Given the description of an element on the screen output the (x, y) to click on. 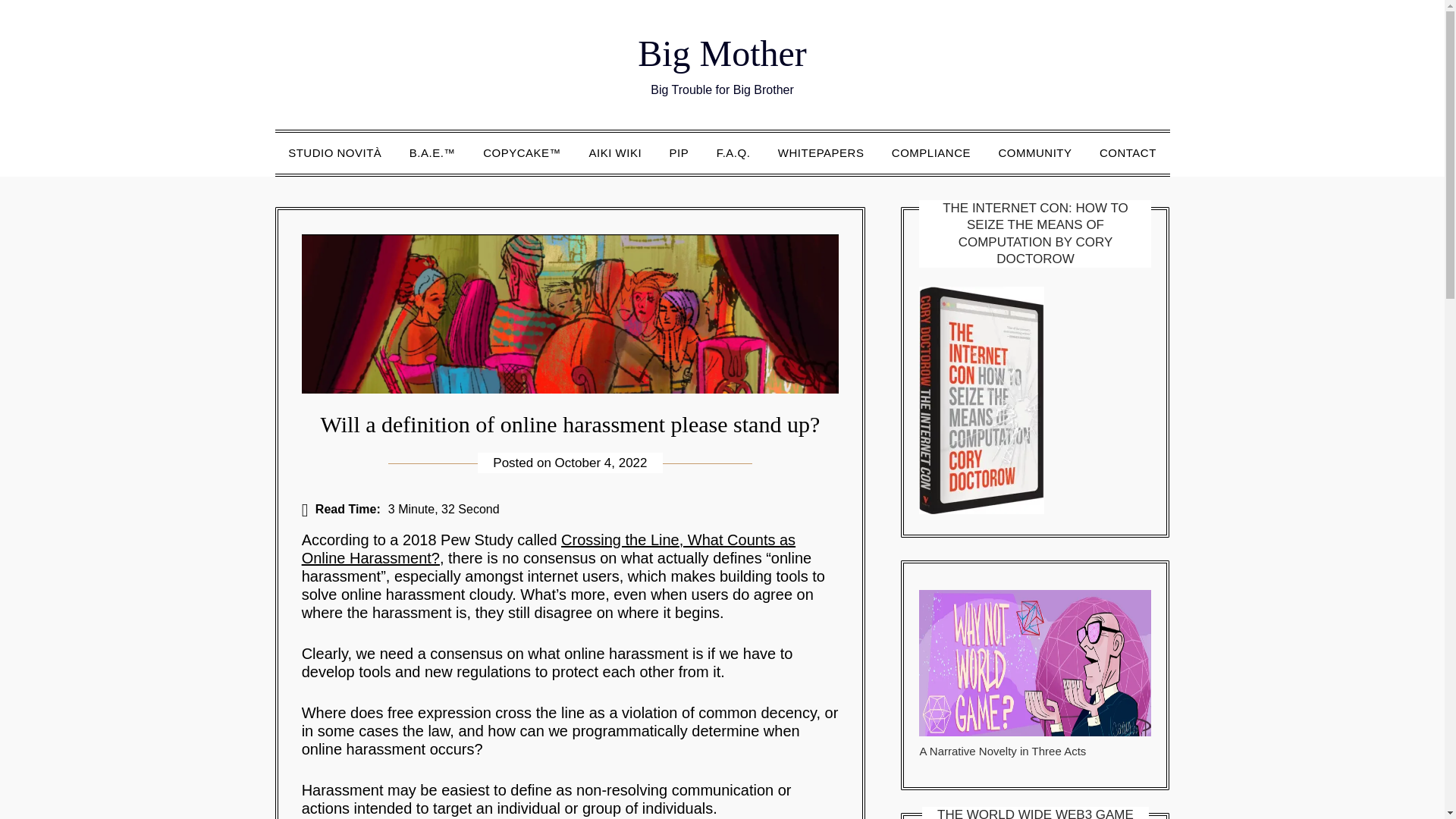
COMMUNITY (1034, 152)
October 4, 2022 (600, 462)
F.A.Q. (733, 152)
Big Mother (721, 53)
PIP (679, 152)
WHITEPAPERS (820, 152)
Crossing the Line, What Counts as Online Harassment? (547, 548)
CONTACT (1128, 152)
COMPLIANCE (930, 152)
AIKI WIKI (614, 152)
